Given the description of an element on the screen output the (x, y) to click on. 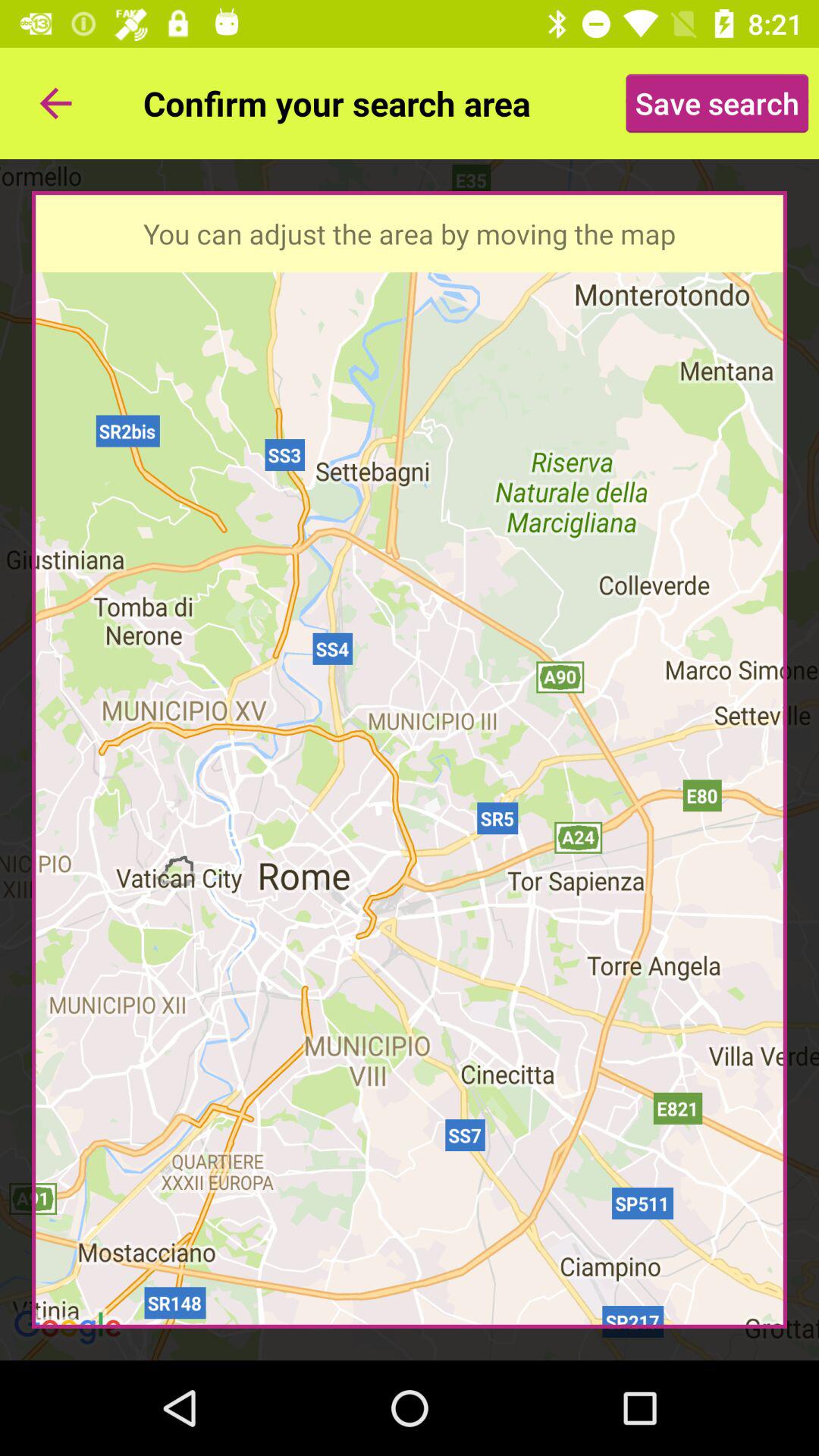
select item next to confirm your search item (717, 103)
